Given the description of an element on the screen output the (x, y) to click on. 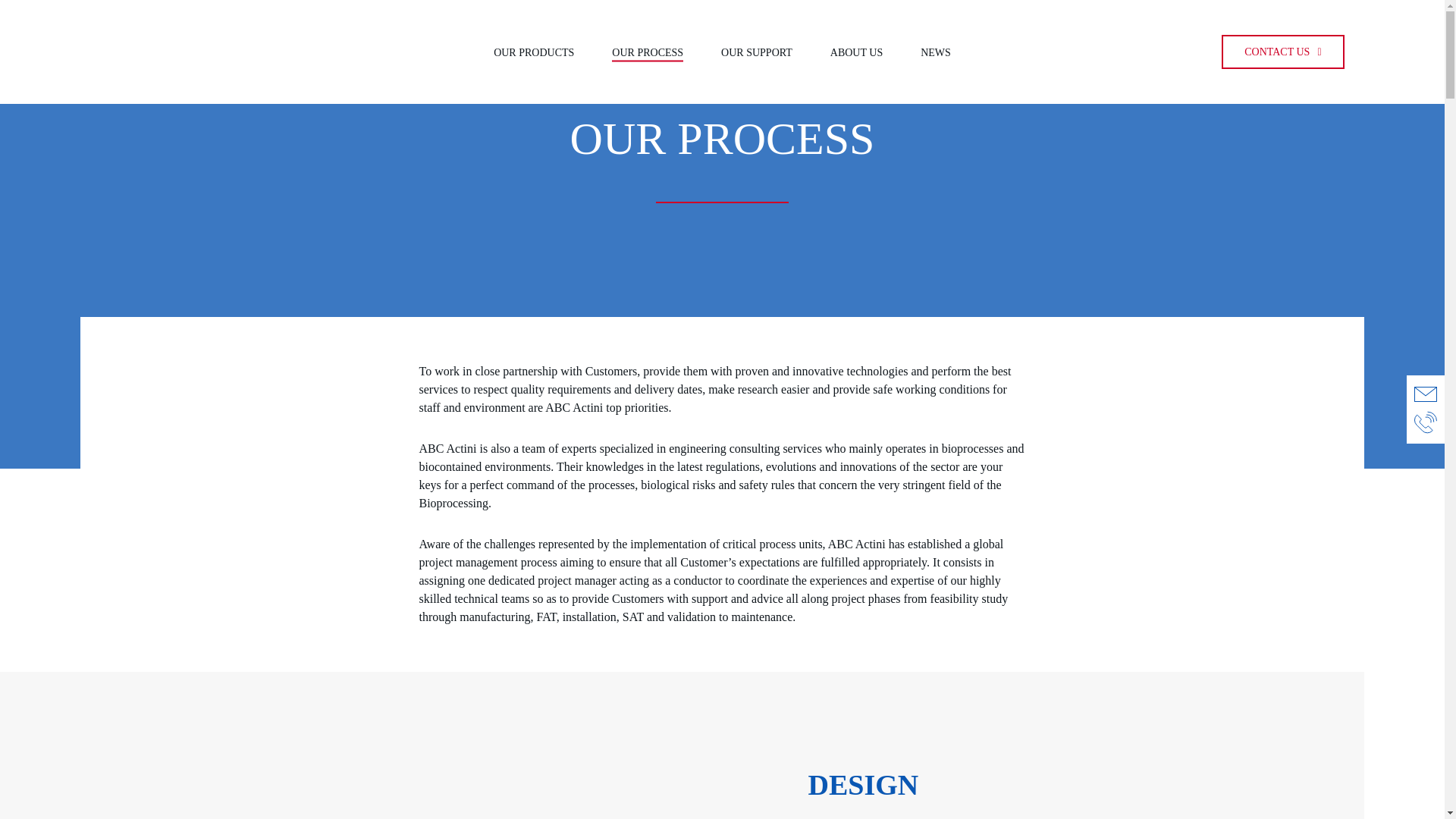
OUR PRODUCTS (533, 51)
OUR PROCESS (646, 51)
OUR SUPPORT (756, 51)
ABOUT US (855, 51)
NEWS (935, 51)
CONTACT US (1282, 51)
